Given the description of an element on the screen output the (x, y) to click on. 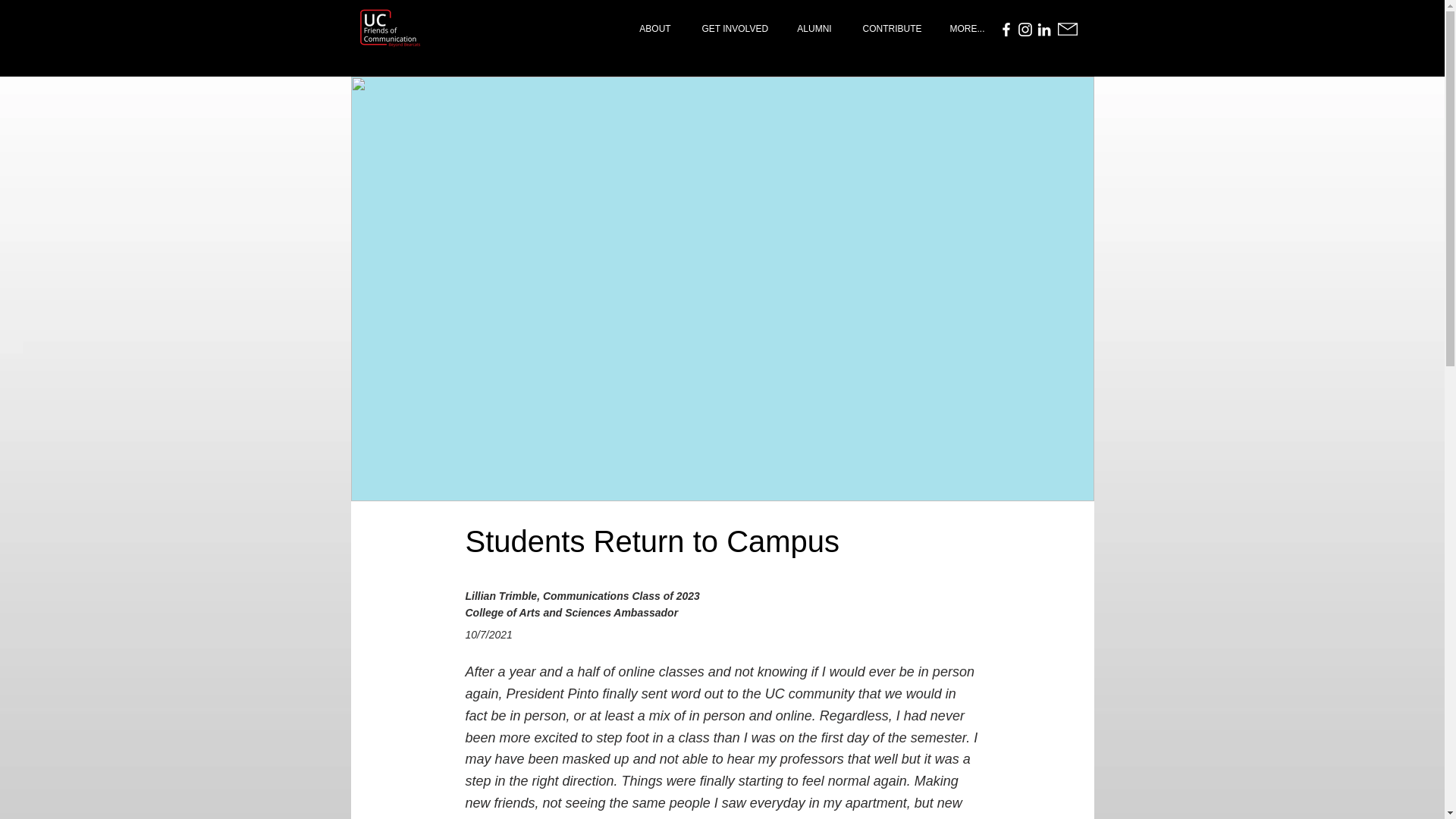
GET INVOLVED (734, 28)
ABOUT (654, 28)
ALUMNI (813, 28)
CONTRIBUTE (890, 28)
